Given the description of an element on the screen output the (x, y) to click on. 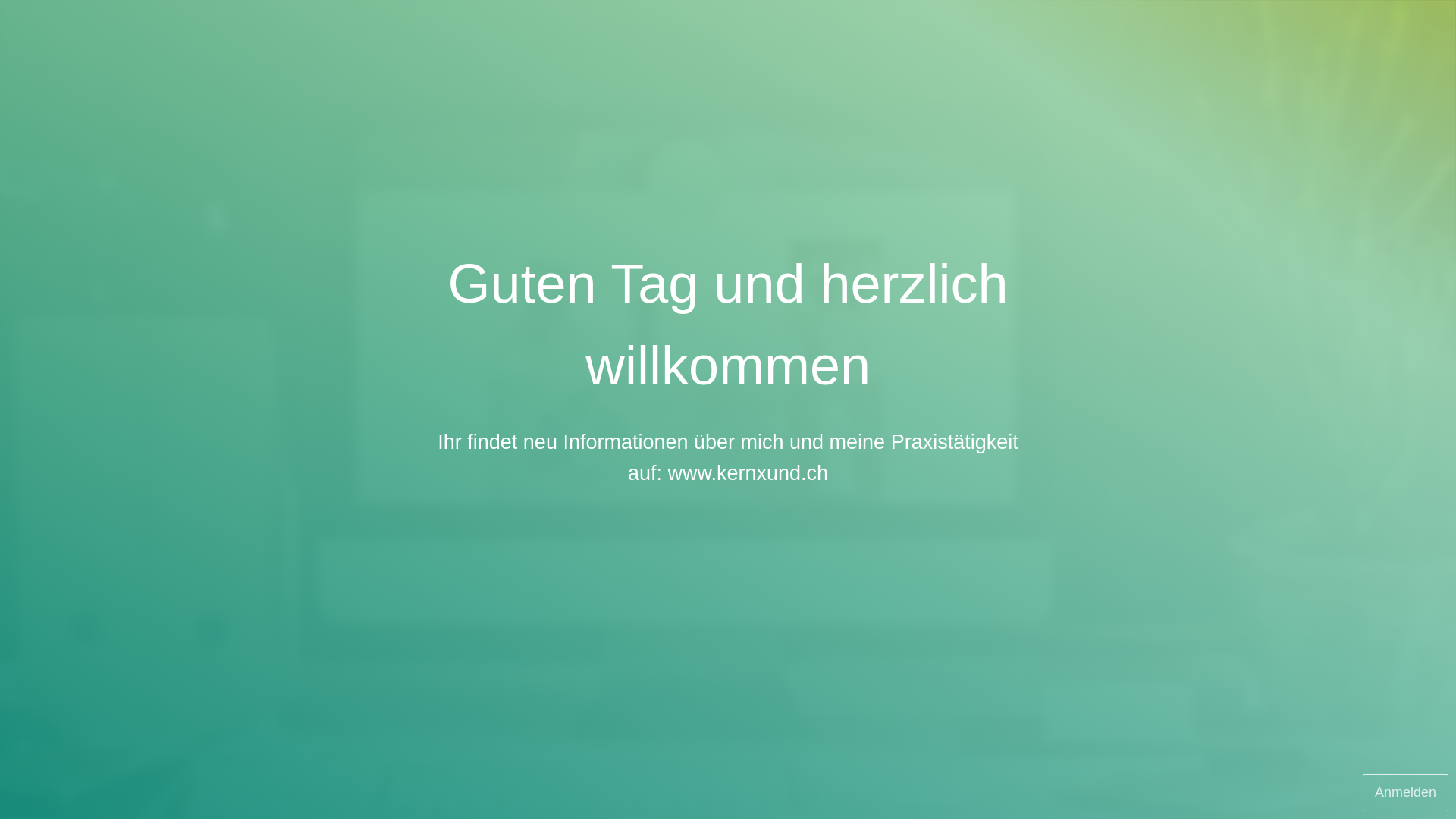
Anmelden Element type: text (1405, 792)
